Given the description of an element on the screen output the (x, y) to click on. 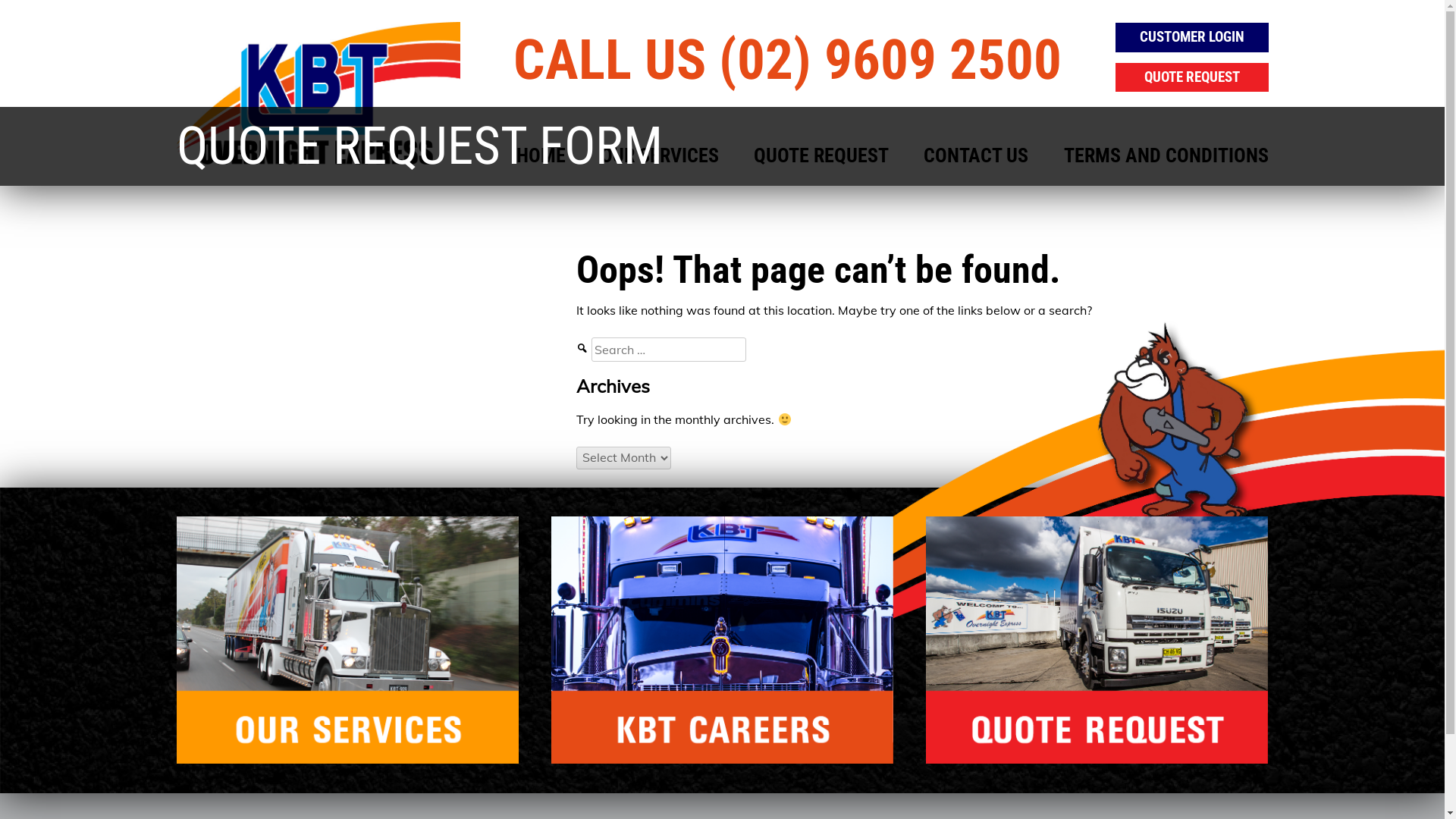
KBT CAREERS Element type: text (721, 640)
Search Element type: text (39, 15)
Skip to content Element type: text (0, 0)
CUSTOMER LOGIN Element type: text (1191, 36)
TERMS AND CONDITIONS Element type: text (1165, 155)
CALL US (02) 9609 2500 Element type: text (787, 43)
HOME Element type: text (540, 155)
OUR SERVICES Element type: text (357, 640)
QUOTE REQUEST Element type: text (1085, 640)
KBT Overnight Express Element type: text (317, 87)
QUOTE REQUEST Element type: text (1191, 76)
CONTACT US Element type: text (975, 155)
QUOTE REQUEST Element type: text (820, 155)
OUR SERVICES Element type: text (659, 155)
